Given the description of an element on the screen output the (x, y) to click on. 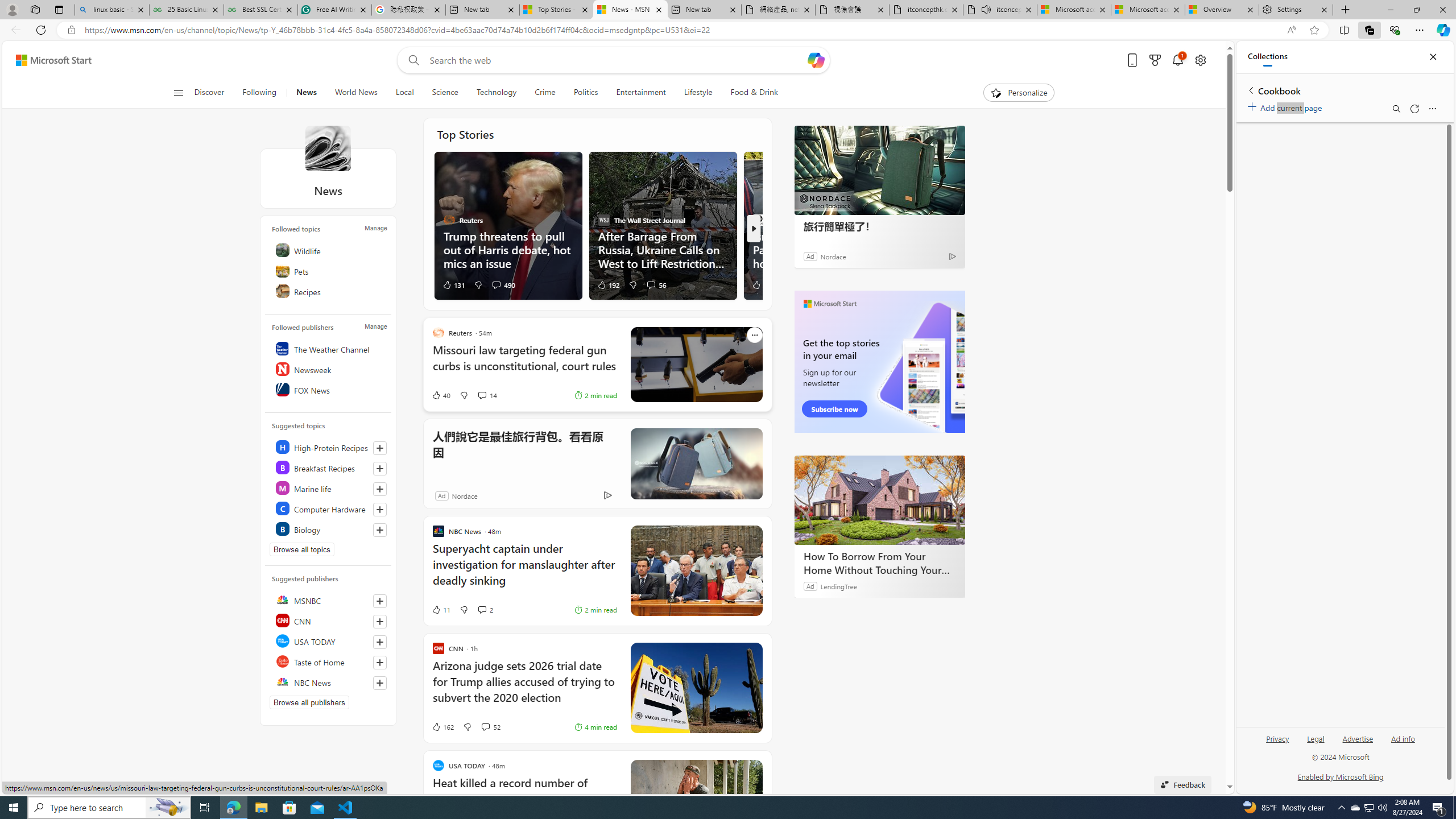
Browse all publishers (309, 702)
69 Like (760, 284)
Pets (328, 270)
